Given the description of an element on the screen output the (x, y) to click on. 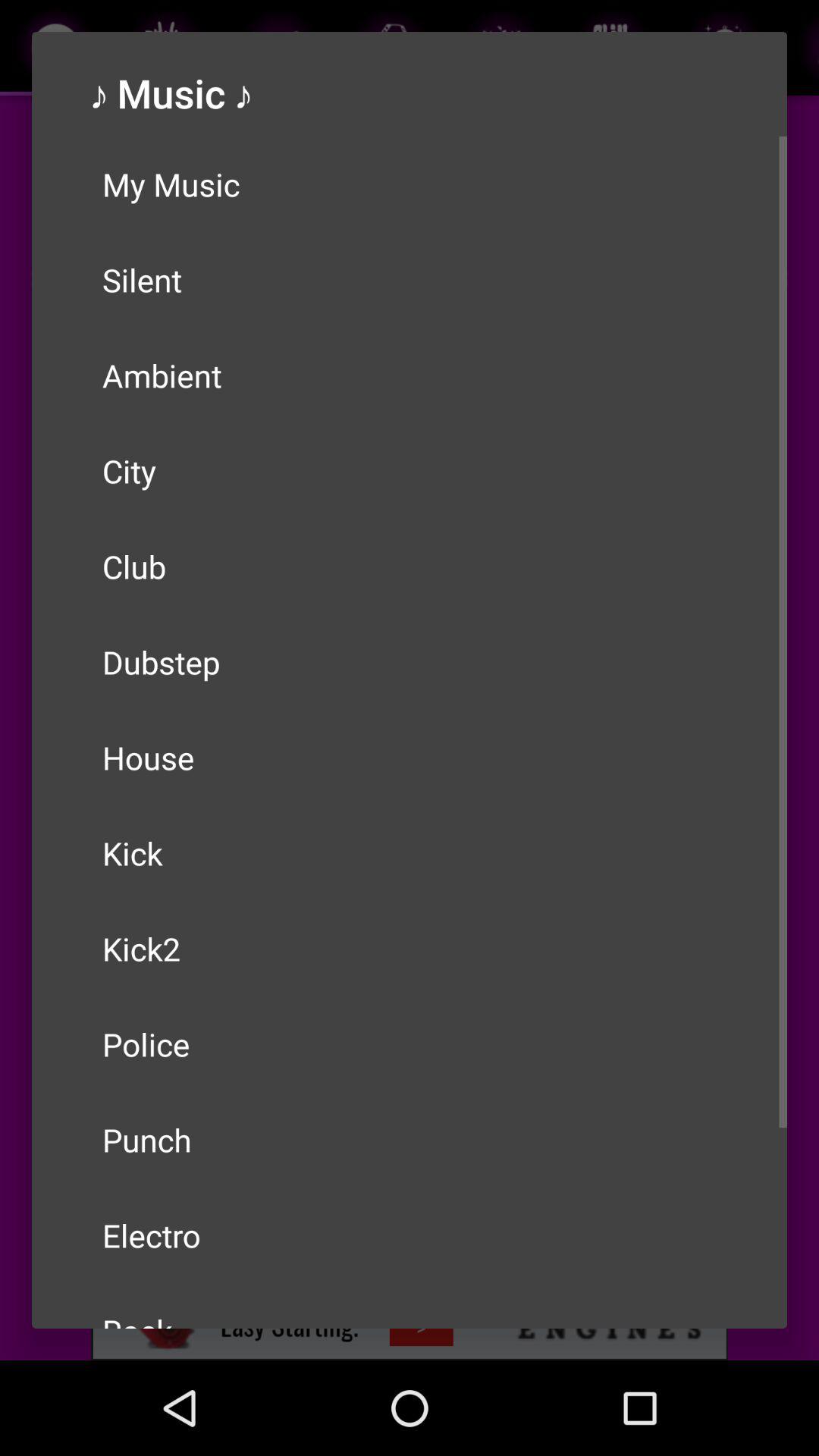
swipe until kick (409, 852)
